Given the description of an element on the screen output the (x, y) to click on. 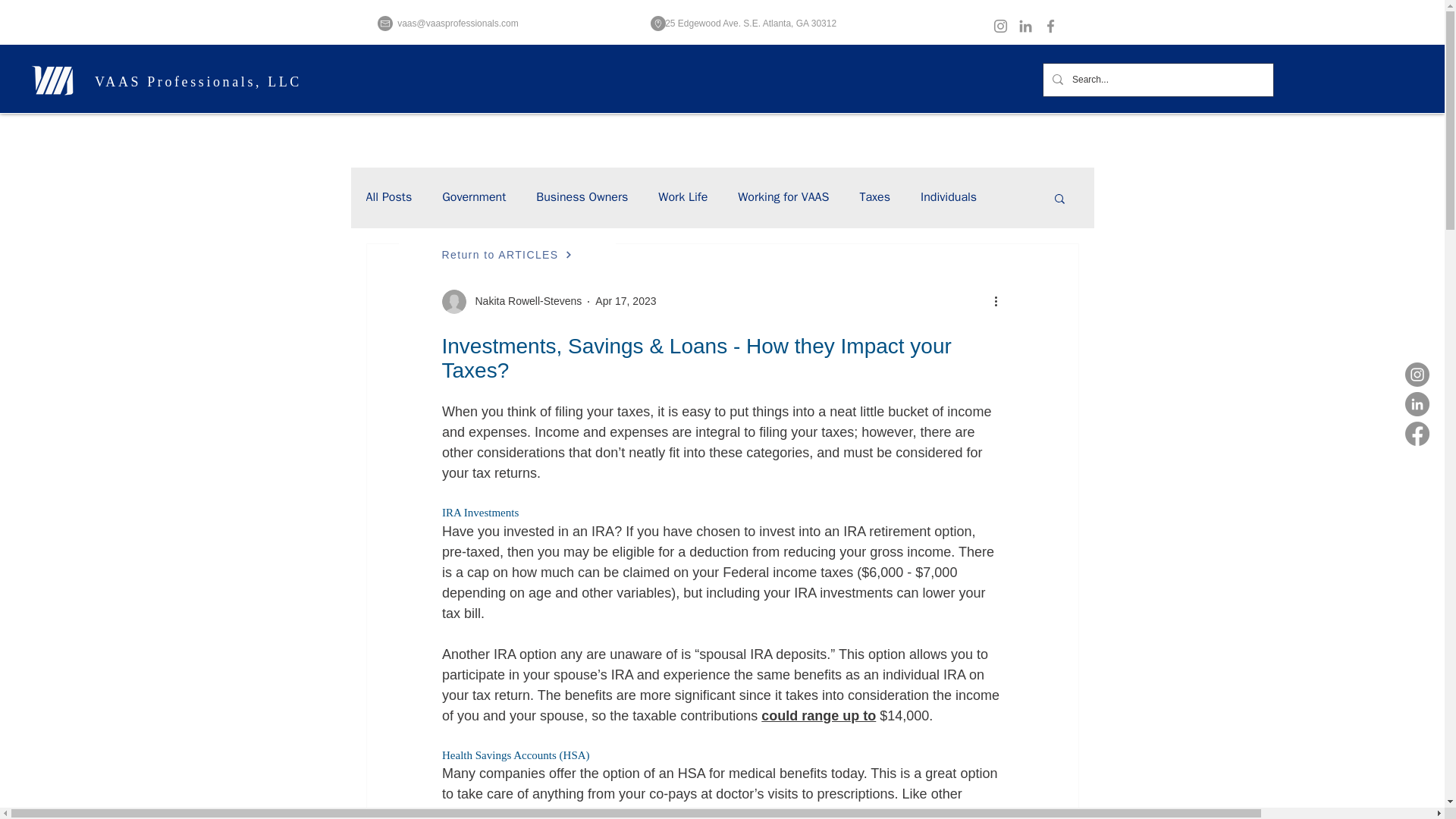
Individuals (948, 197)
Nakita Rowell-Stevens (522, 301)
All Posts (388, 197)
Business Owners (581, 197)
VAAS Professionals, LLC (197, 81)
Return to ARTICLES (506, 254)
Apr 17, 2023 (625, 300)
Taxes (874, 197)
Nakita Rowell-Stevens (510, 301)
Working for VAAS (783, 197)
Government (473, 197)
Work Life (682, 197)
